Given the description of an element on the screen output the (x, y) to click on. 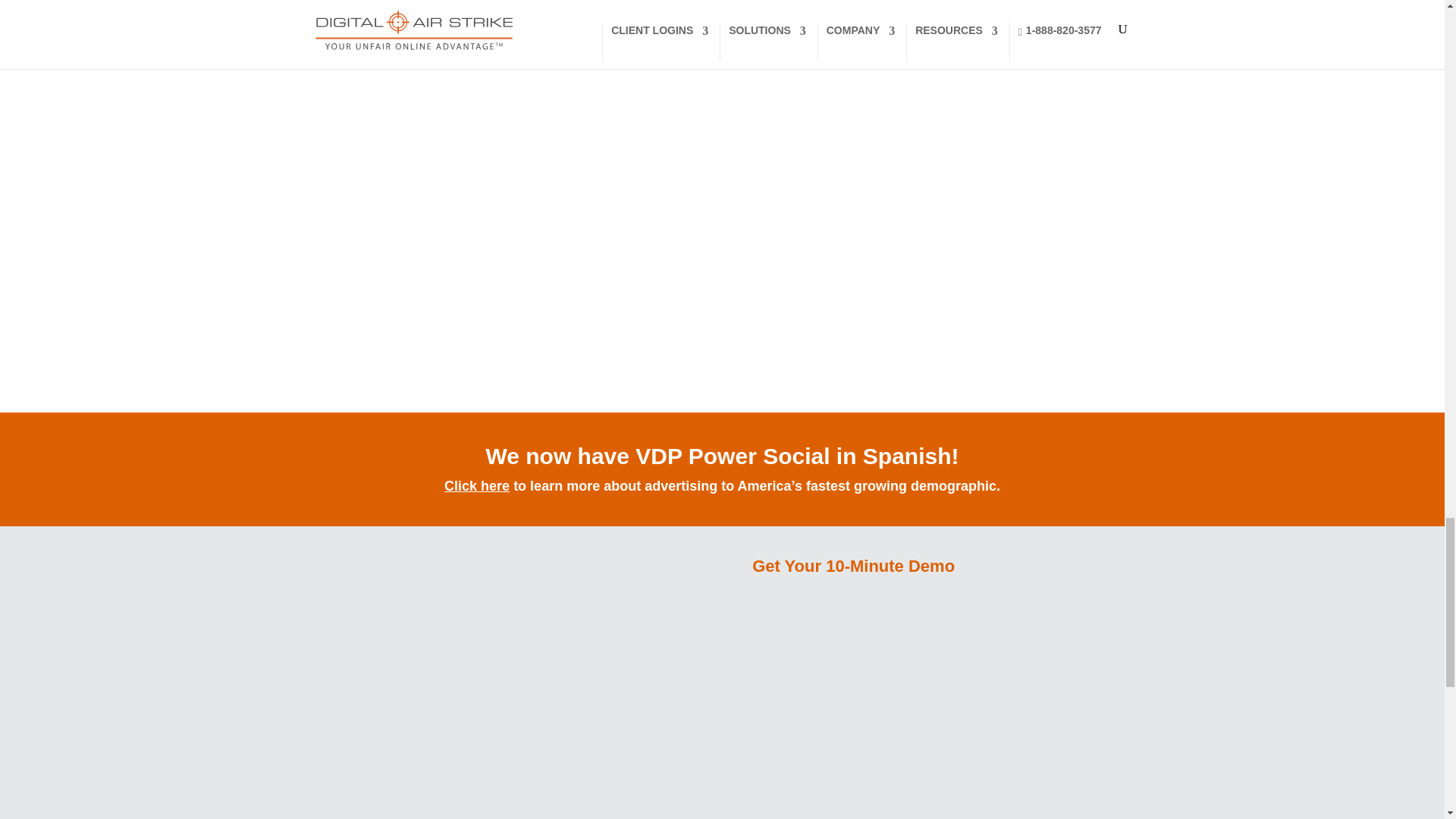
DemoGraphic-V3-3-copy (433, 687)
